Given the description of an element on the screen output the (x, y) to click on. 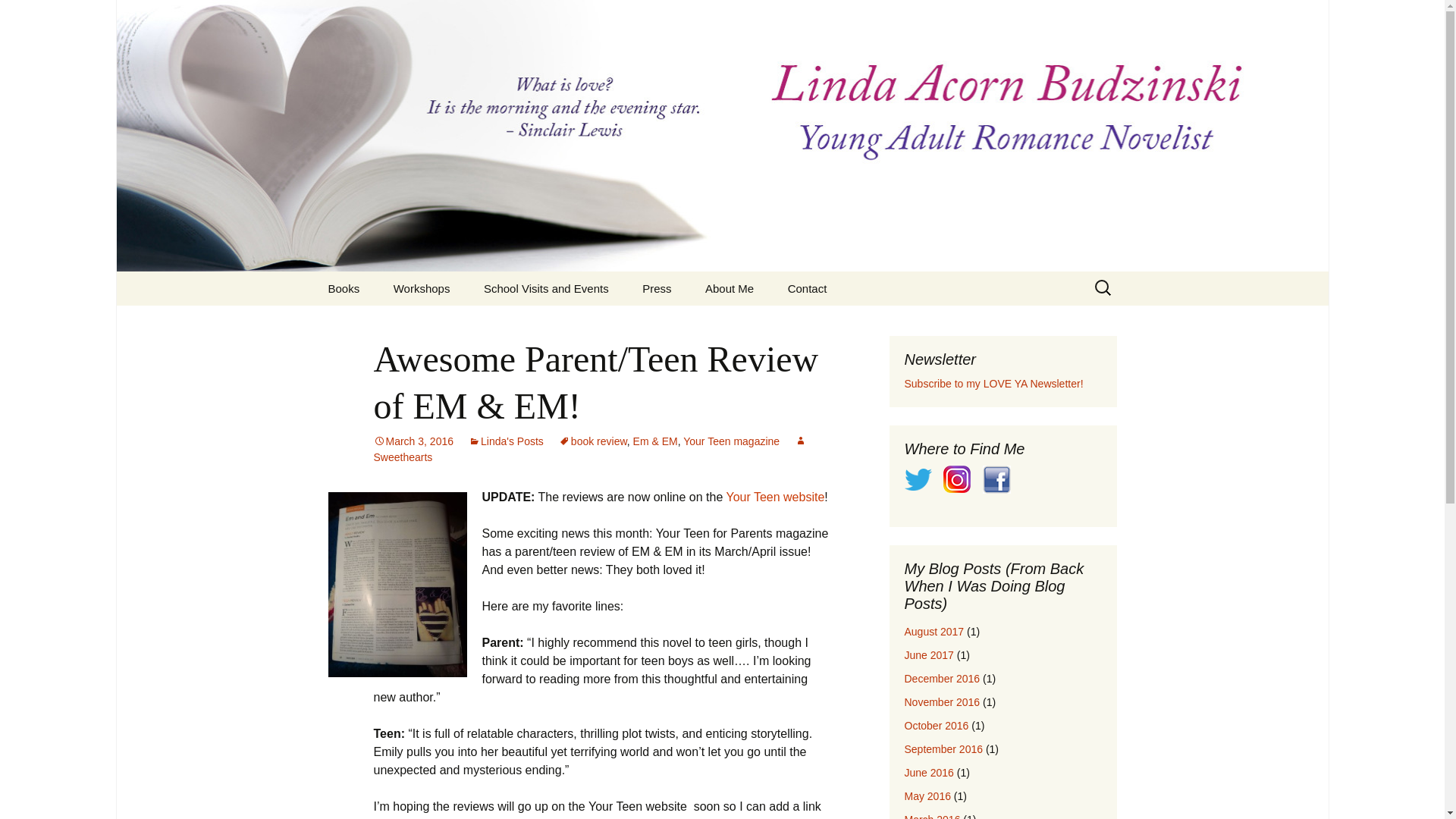
October 2016 (936, 725)
Search (18, 15)
Follow me on Twitter (917, 478)
Press (656, 288)
book review (593, 440)
Books (343, 288)
Subscribe to my LOVE YA Newsletter! (993, 383)
School Visits and Events (546, 288)
September 2016 (943, 748)
